Given the description of an element on the screen output the (x, y) to click on. 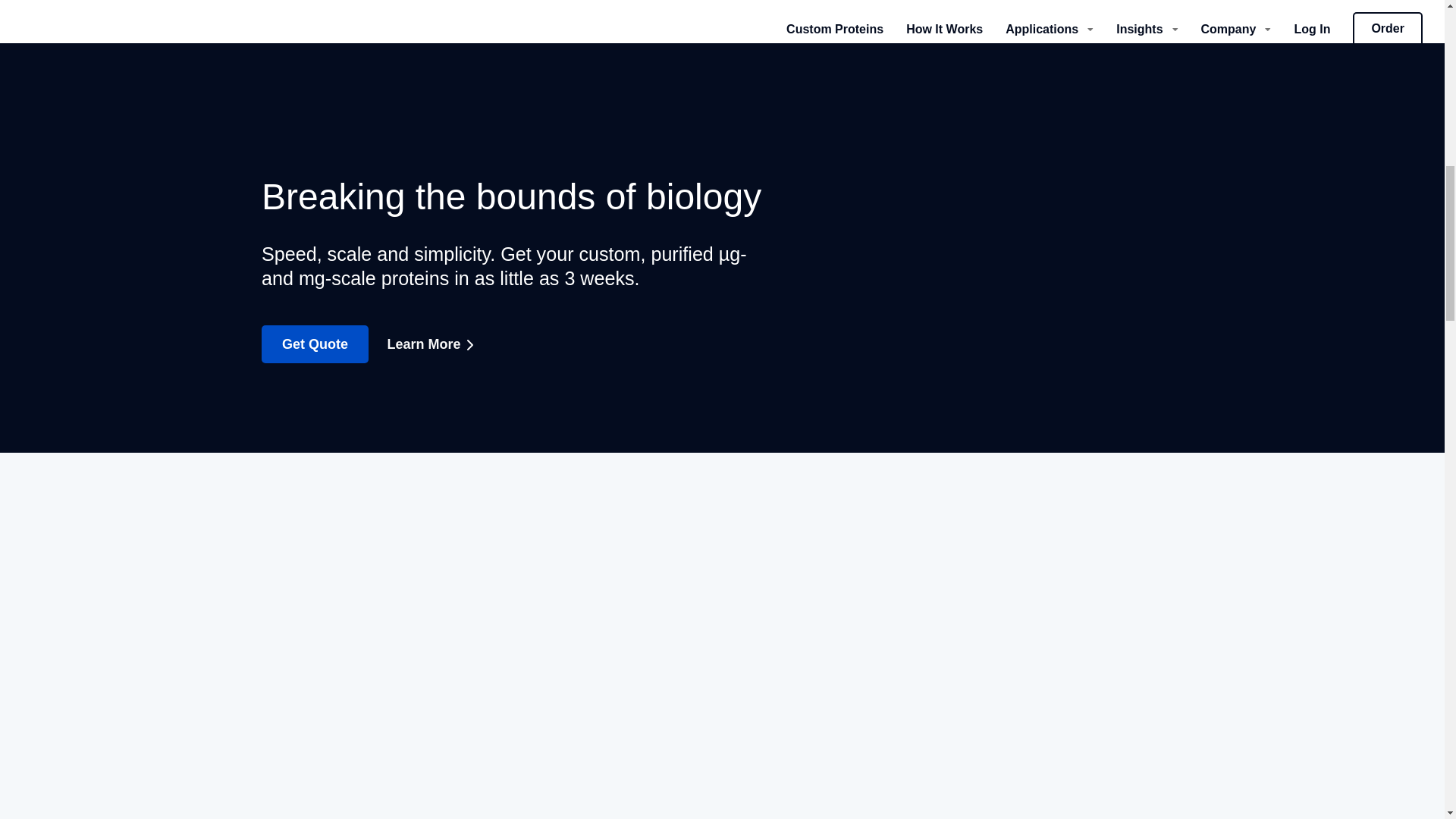
Learn More (435, 344)
Get Quote (315, 344)
